Given the description of an element on the screen output the (x, y) to click on. 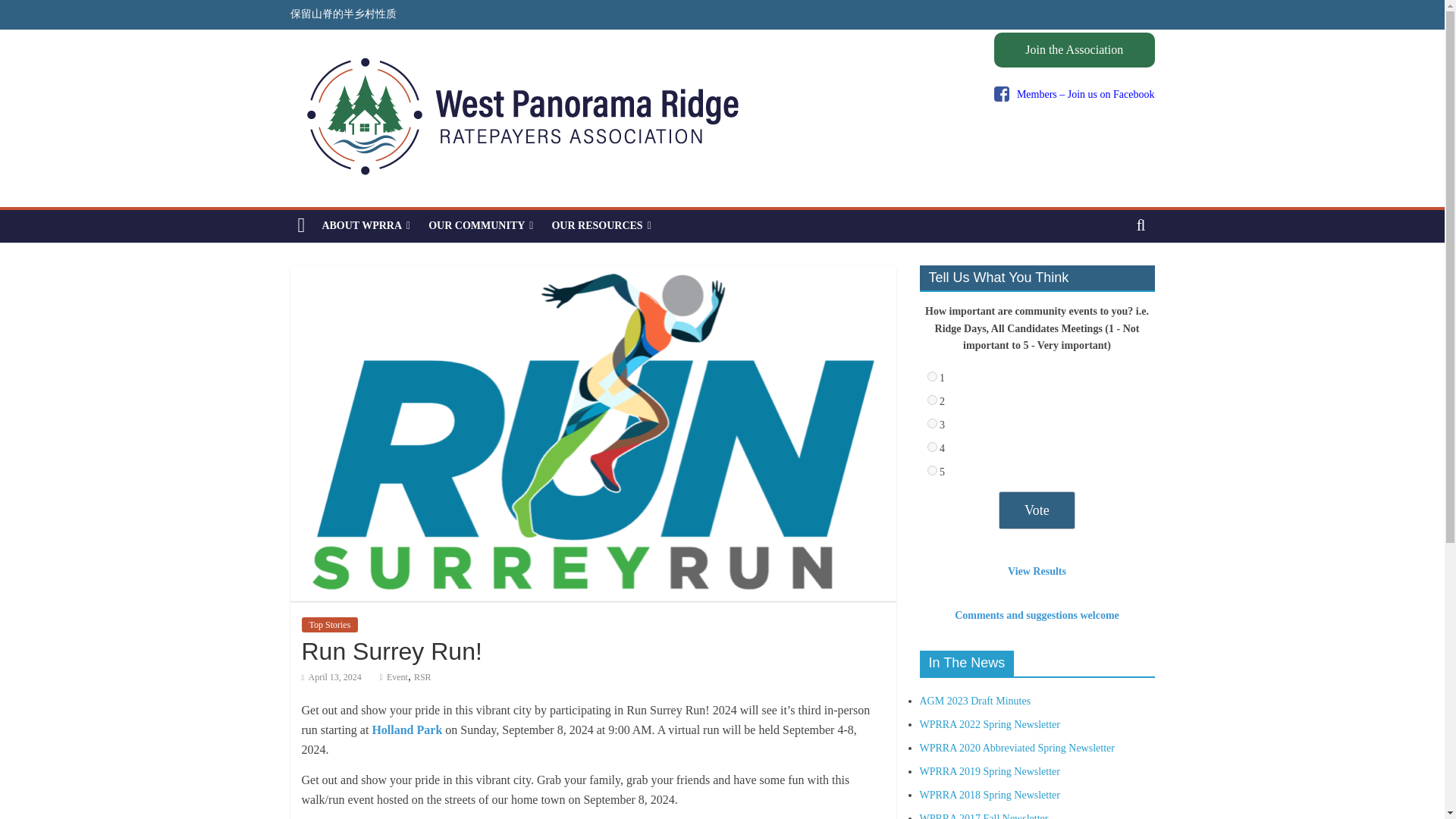
Event (397, 676)
OUR RESOURCES (600, 225)
33 (931, 470)
29 (931, 376)
Top Stories (329, 624)
RSR (421, 676)
OUR COMMUNITY (480, 225)
   Vote    (1036, 510)
View Results (1036, 571)
1:12 pm (331, 676)
